Given the description of an element on the screen output the (x, y) to click on. 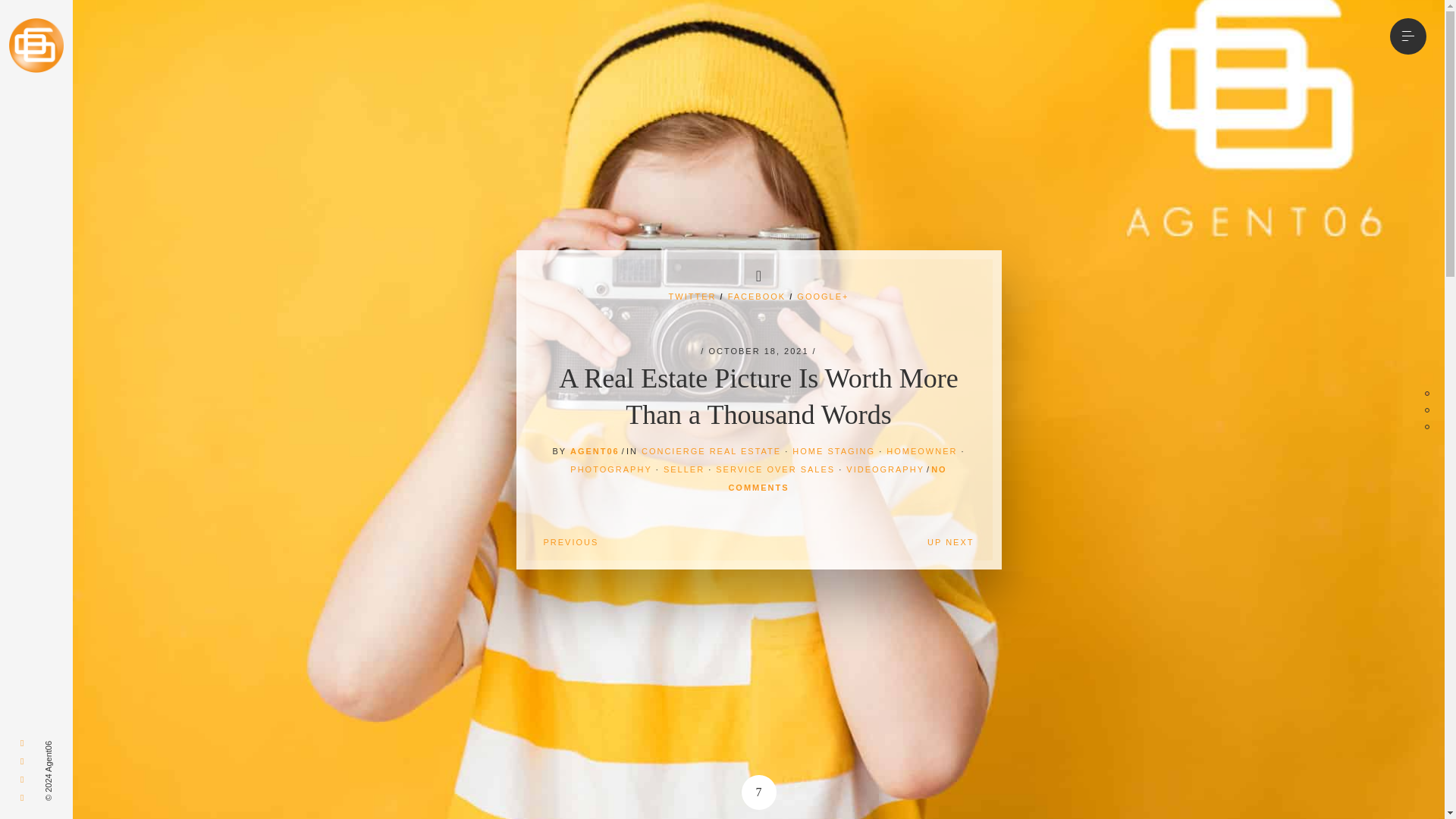
SELLER (683, 468)
HOMEOWNER (921, 450)
View all posts by Agent06 (595, 450)
SERVICE OVER SALES (775, 468)
Open sidebar (1408, 36)
NO COMMENTS (837, 477)
AGENT06 (595, 450)
FACEBOOK (757, 295)
VIDEOGRAPHY (884, 468)
HOME STAGING (833, 450)
